Given the description of an element on the screen output the (x, y) to click on. 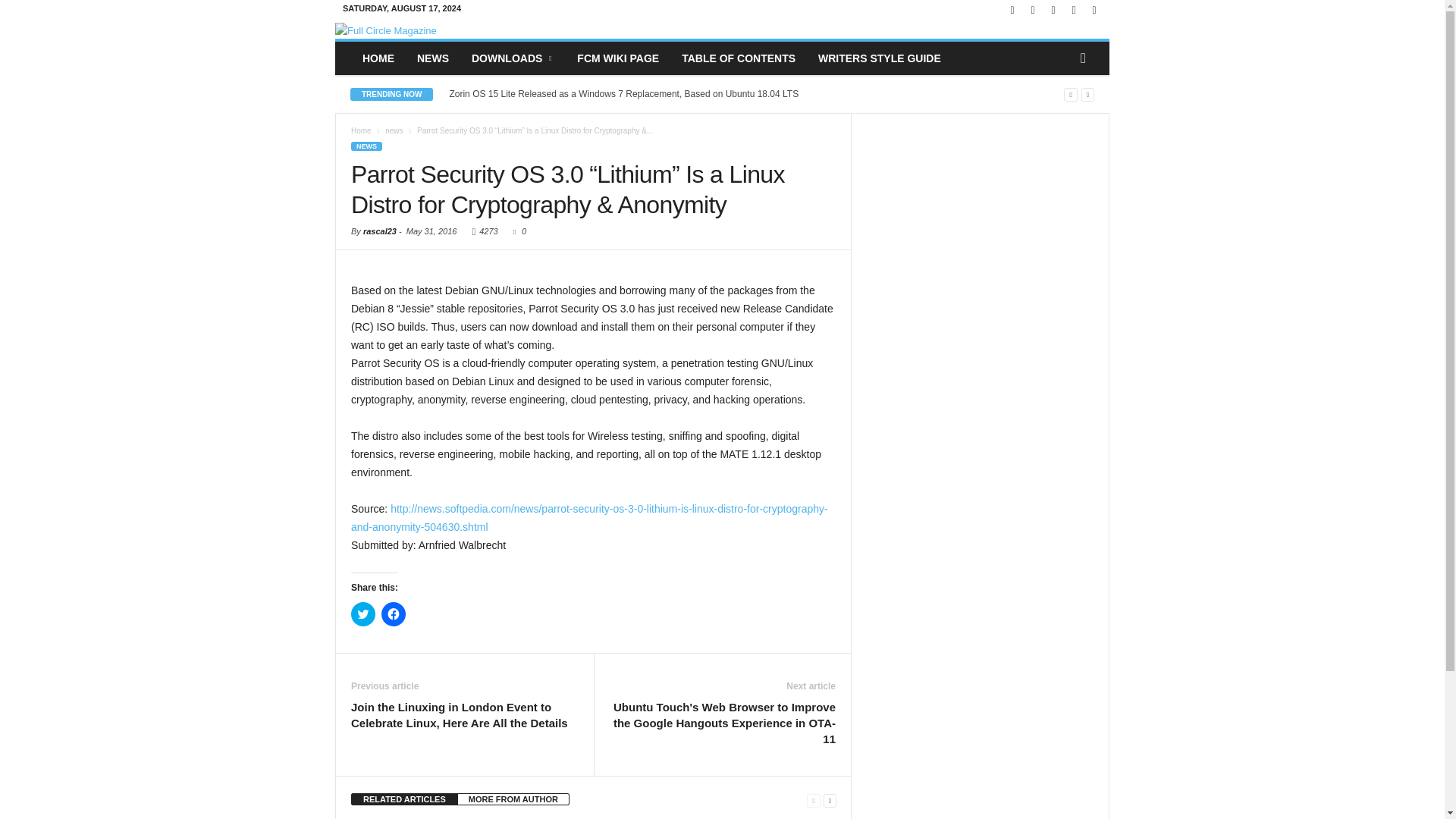
WRITERS STYLE GUIDE (879, 58)
RSS (1073, 10)
Twitter (1093, 10)
Facebook (1012, 10)
View all posts in news (394, 130)
Click to share on Twitter (362, 613)
DOWNLOADS (513, 58)
